Given the description of an element on the screen output the (x, y) to click on. 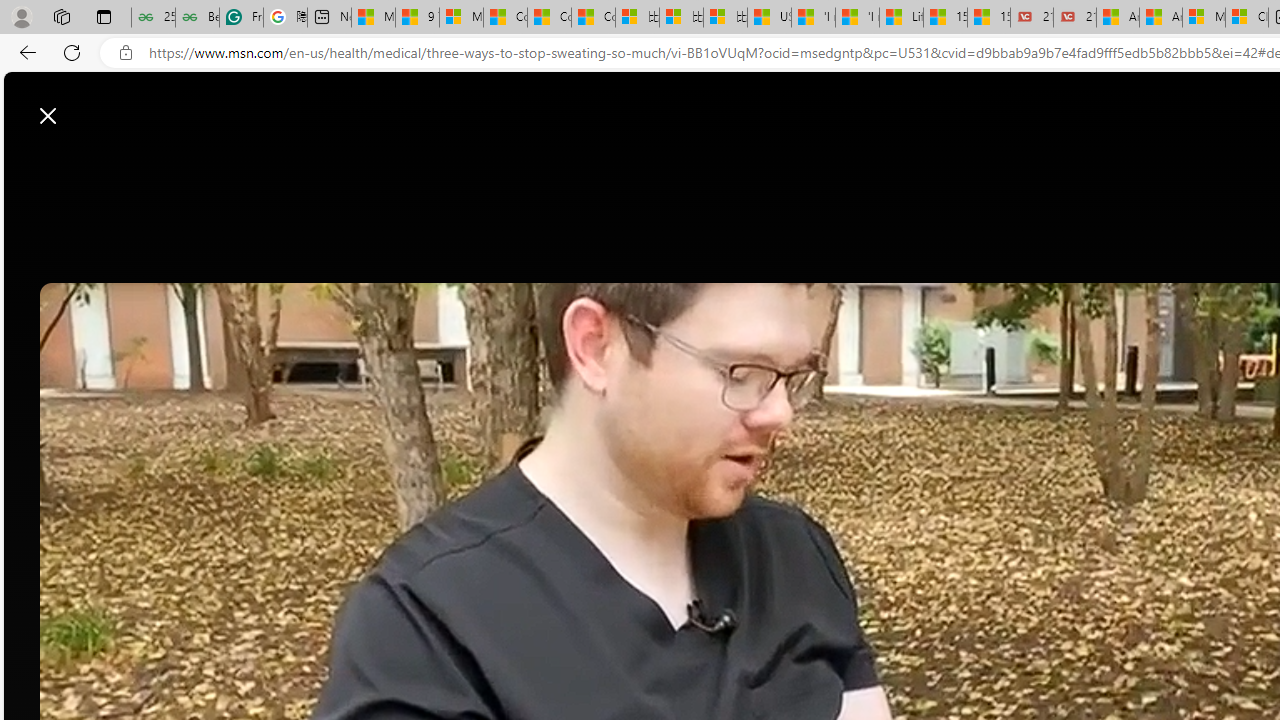
Skip to content (86, 105)
Microsoft Services Agreement (1203, 17)
Class: control icon-only (47, 115)
Skip to footer (82, 105)
15 Ways Modern Life Contradicts the Teachings of Jesus (988, 17)
Best SSL Certificates Provider in India - GeeksforGeeks (196, 17)
USA TODAY - MSN (769, 17)
